Given the description of an element on the screen output the (x, y) to click on. 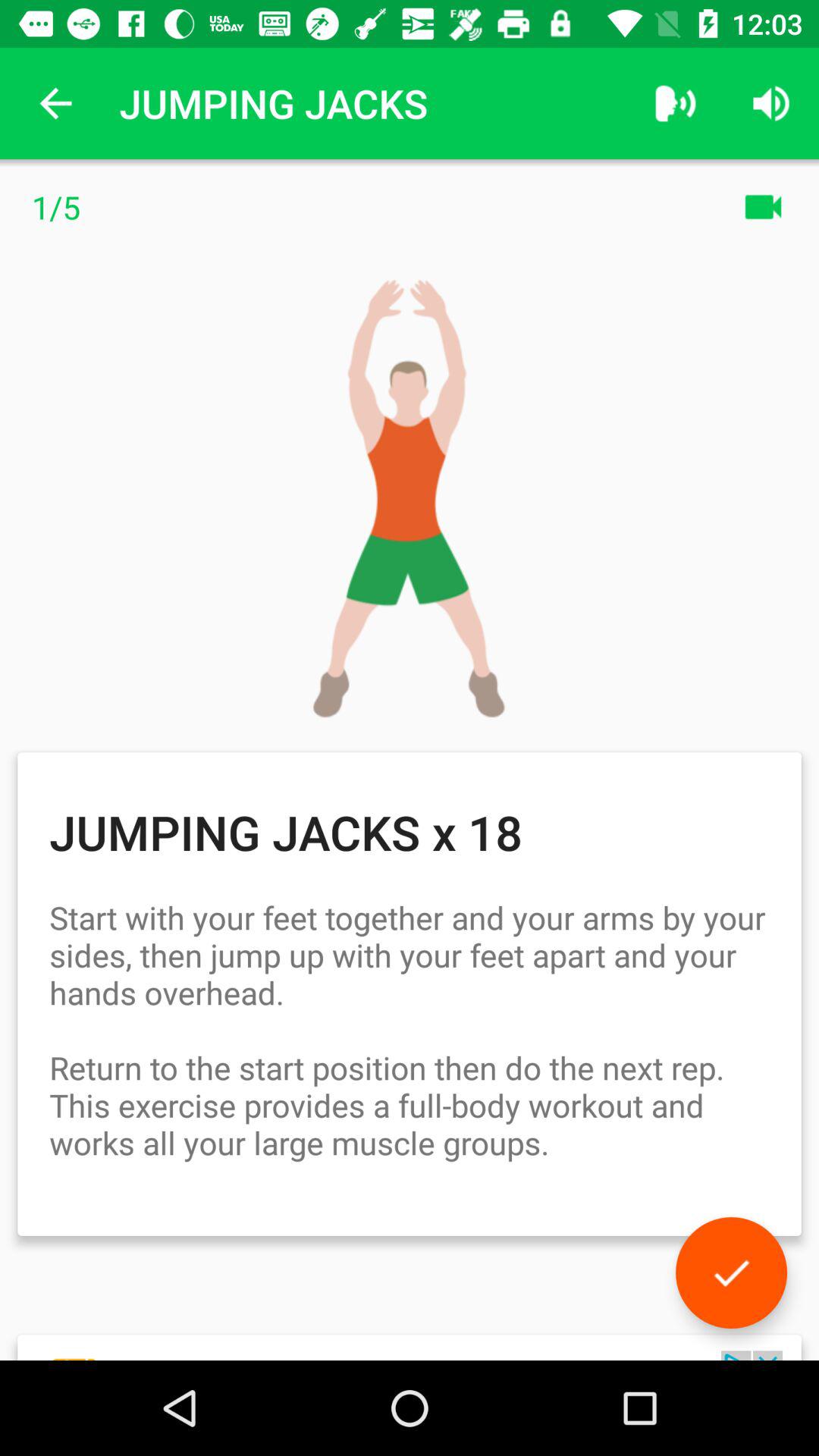
press the icon at the top left corner (55, 103)
